Given the description of an element on the screen output the (x, y) to click on. 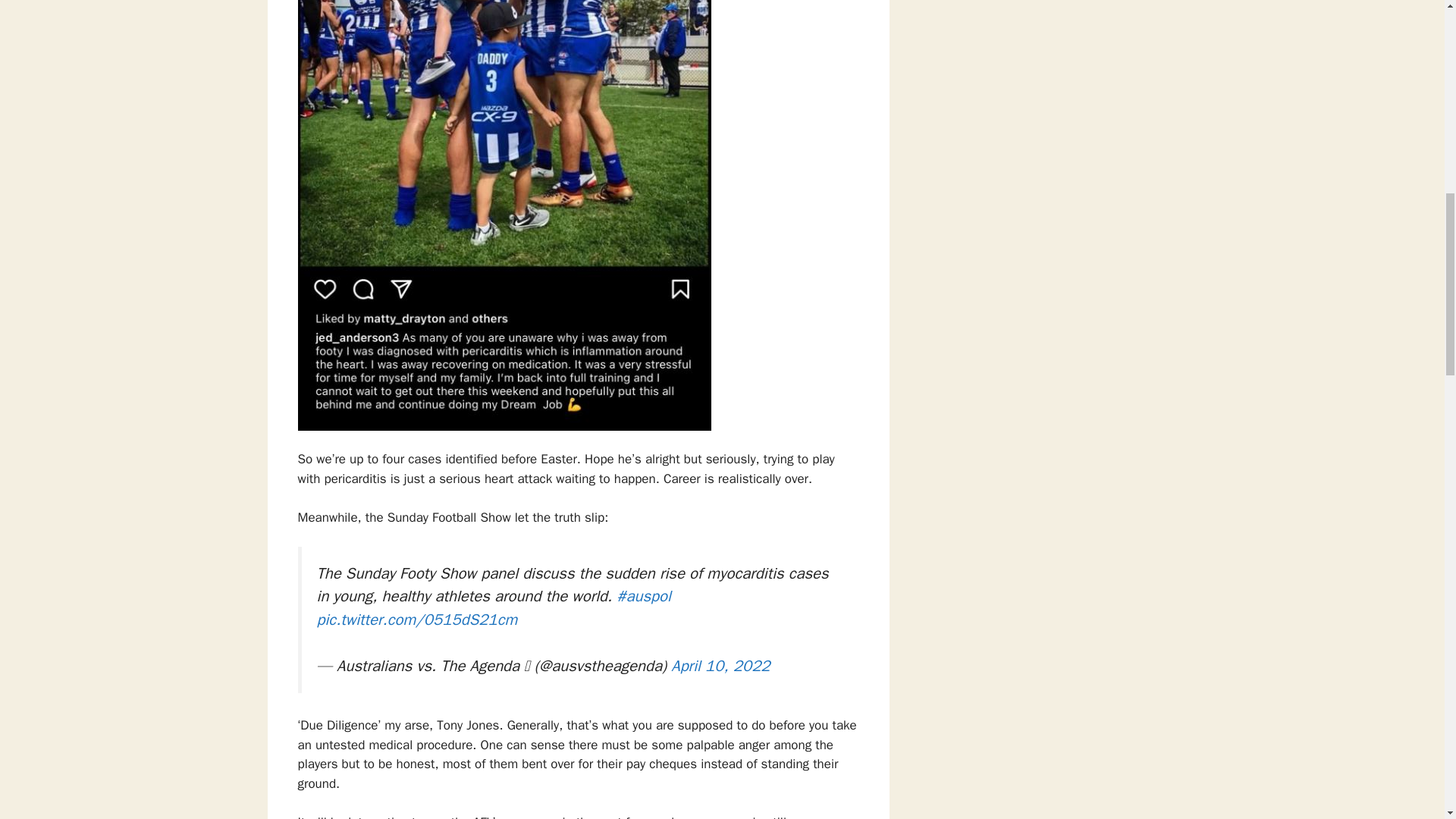
April 10, 2022 (720, 665)
